Given the description of an element on the screen output the (x, y) to click on. 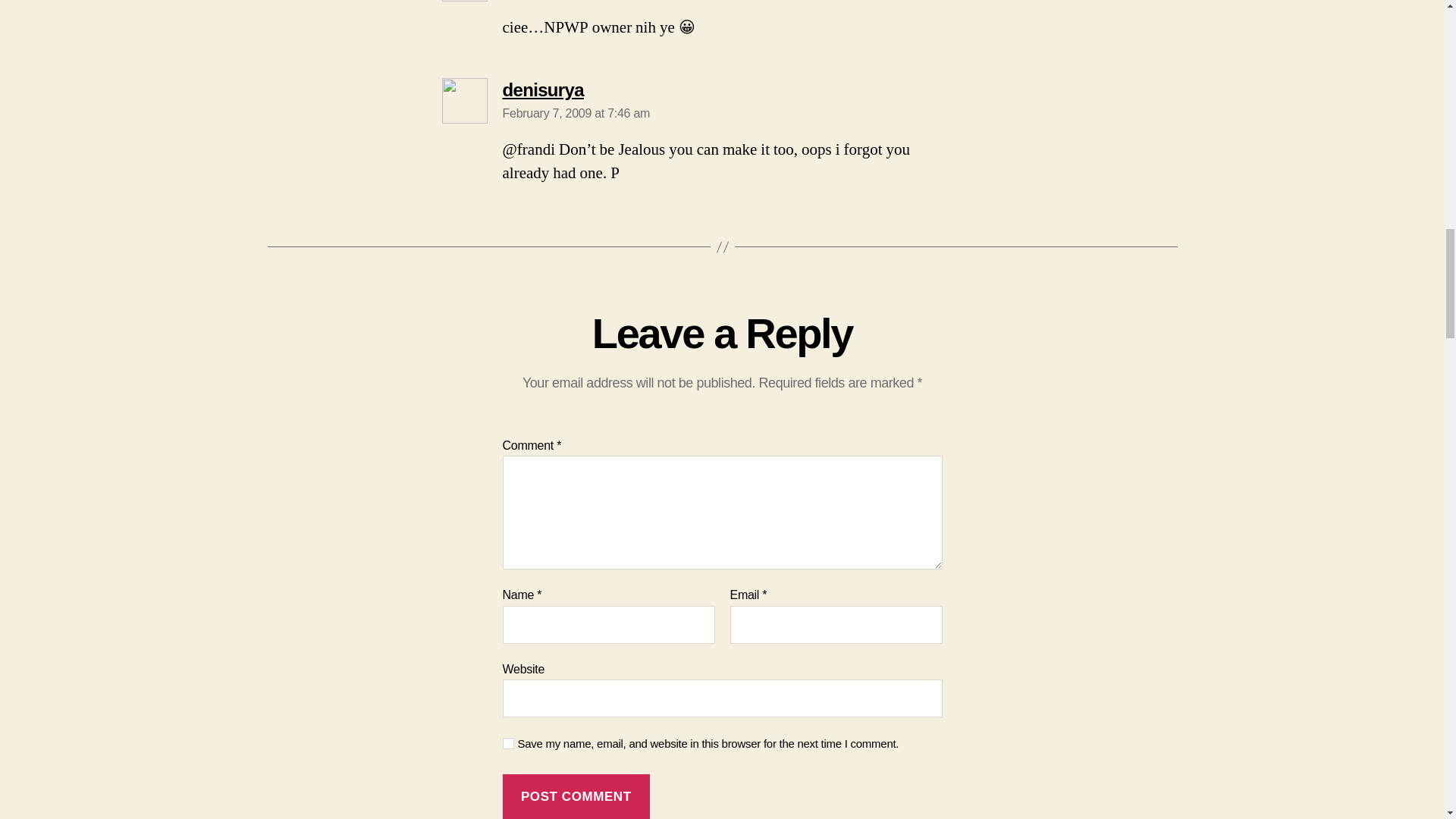
February 7, 2009 at 7:46 am (575, 113)
yes (507, 743)
Post Comment (575, 796)
Post Comment (575, 796)
